Given the description of an element on the screen output the (x, y) to click on. 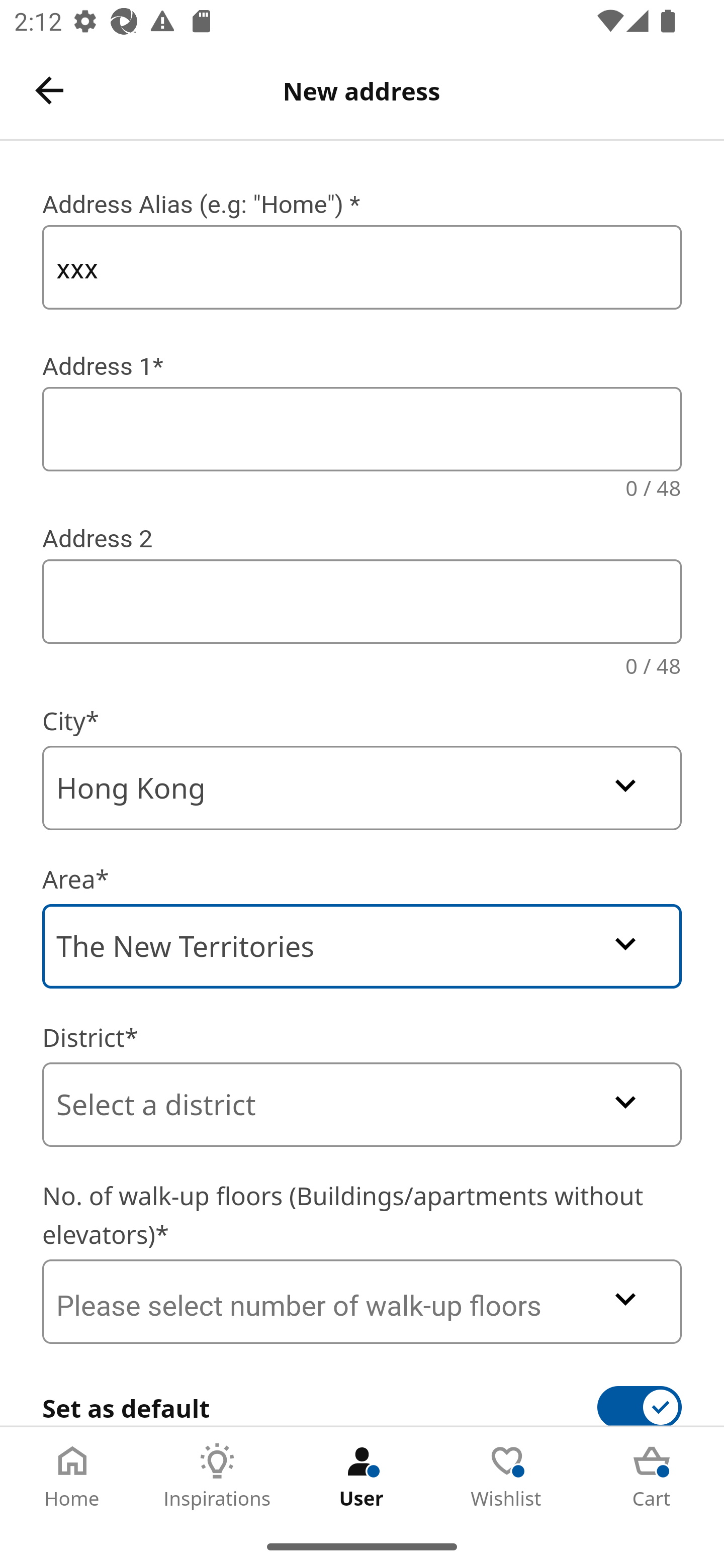
xxx (361, 266)
Hong Kong (361, 787)
The New Territories (361, 945)
Select a district (361, 1104)
Please select number of walk-up floors (361, 1301)
Home
Tab 1 of 5 (72, 1476)
Inspirations
Tab 2 of 5 (216, 1476)
User
Tab 3 of 5 (361, 1476)
Wishlist
Tab 4 of 5 (506, 1476)
Cart
Tab 5 of 5 (651, 1476)
